Given the description of an element on the screen output the (x, y) to click on. 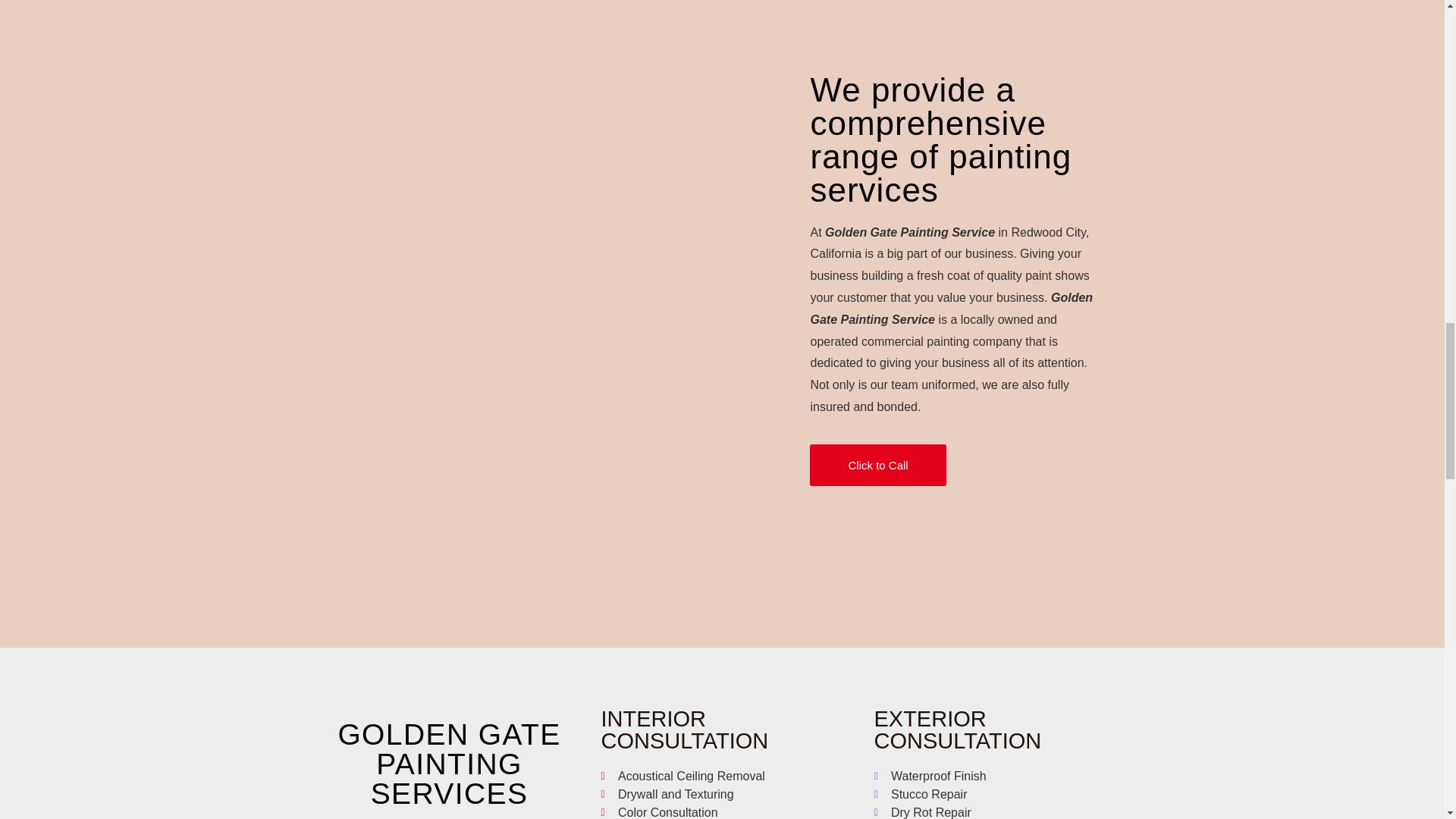
Click to Call (876, 465)
